Given the description of an element on the screen output the (x, y) to click on. 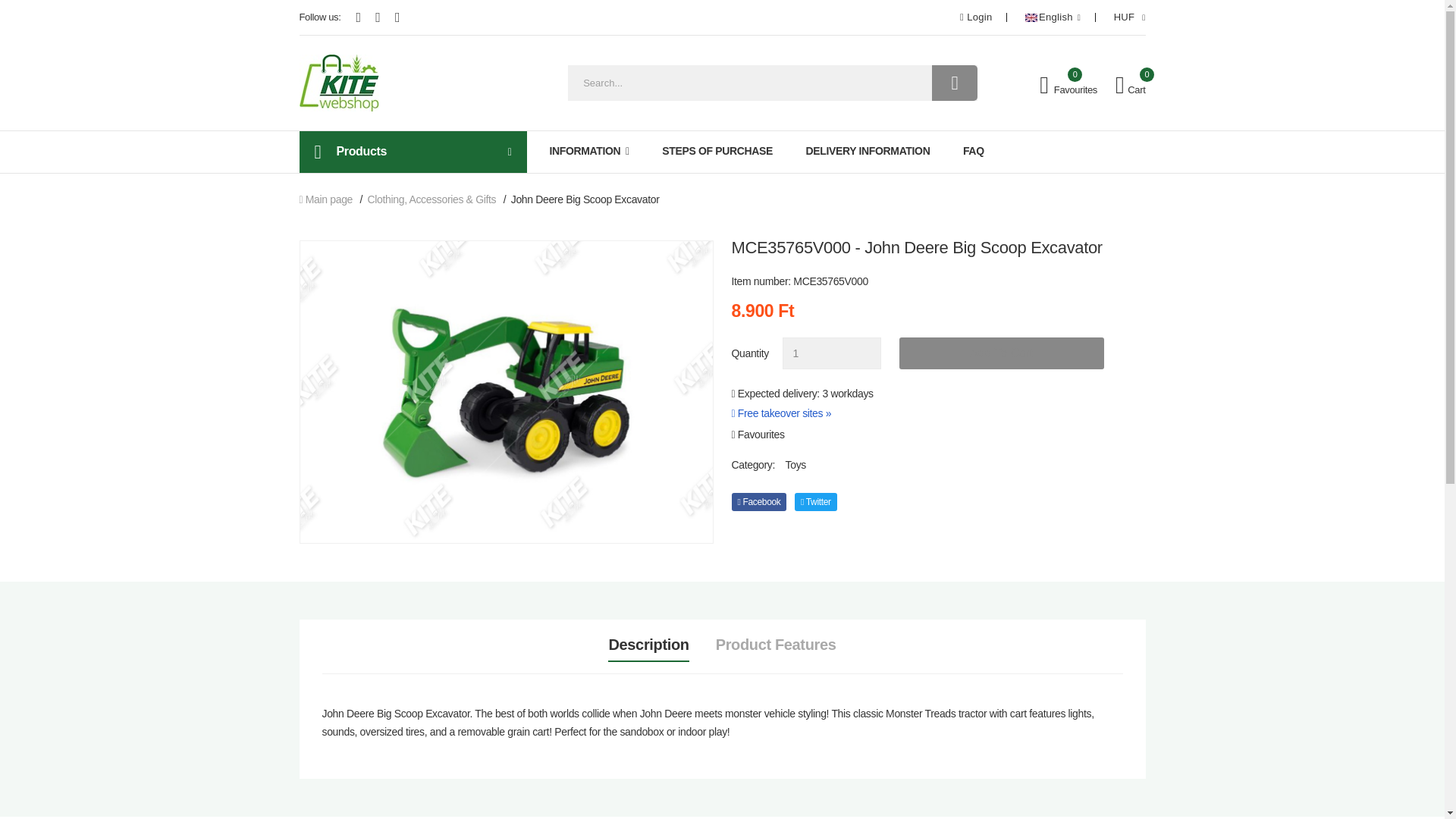
HUF (1129, 17)
Cart (1130, 85)
English (1052, 17)
Favourites (1068, 85)
Favourites (757, 434)
Login (975, 17)
1 (831, 353)
twitter (815, 502)
facebook (758, 502)
